Given the description of an element on the screen output the (x, y) to click on. 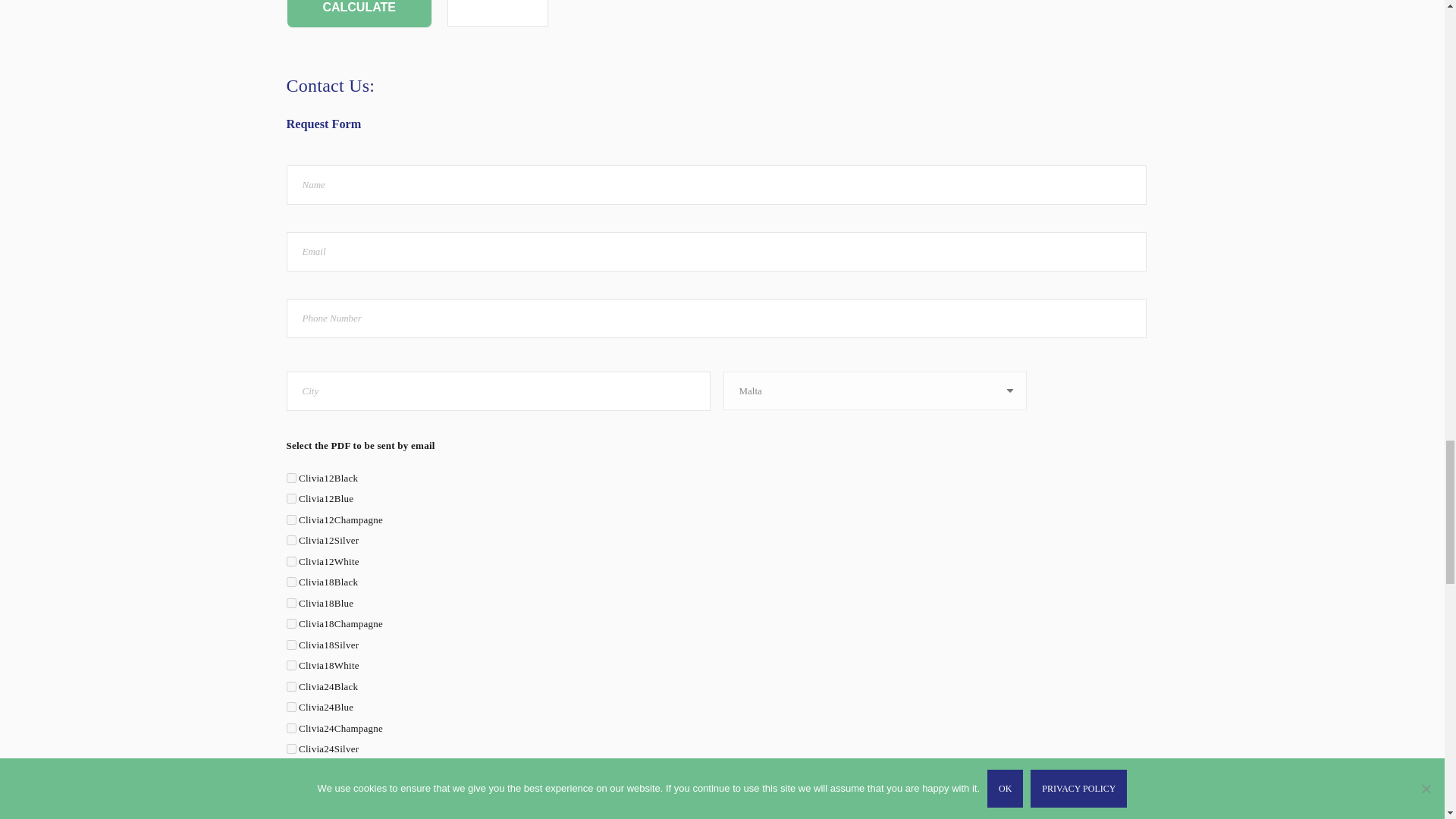
8214 (291, 665)
8207 (291, 519)
8206 (291, 498)
8205 (291, 478)
8215 (291, 686)
8212 (291, 623)
CALCULATE (359, 13)
8209 (291, 561)
8211 (291, 603)
8213 (291, 644)
8208 (291, 540)
8210 (291, 582)
